Given the description of an element on the screen output the (x, y) to click on. 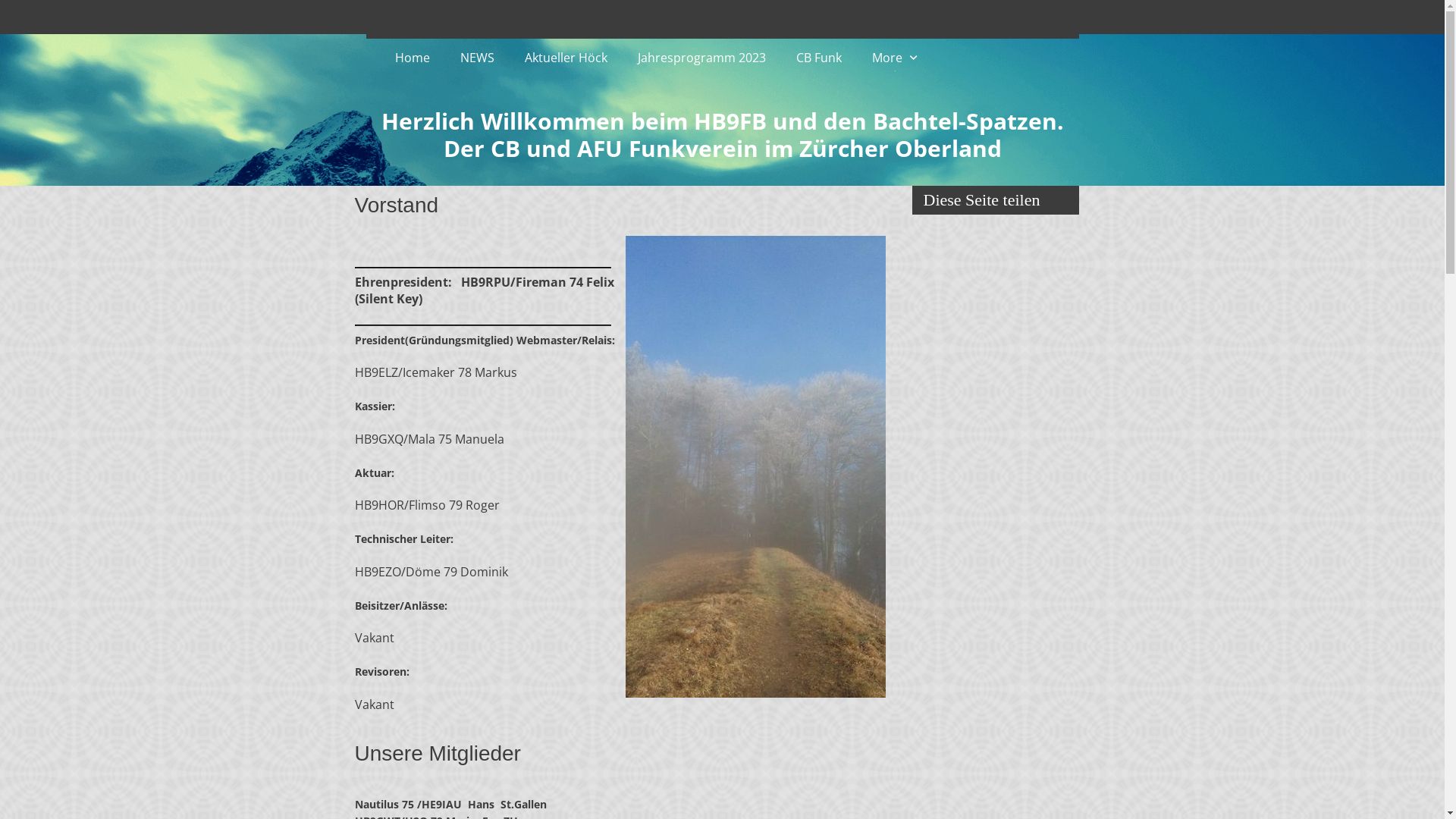
Jahresprogramm 2023 Element type: text (700, 57)
NEWS Element type: text (476, 57)
Home Element type: text (411, 57)
CB Funk Element type: text (818, 57)
More Element type: text (896, 57)
